Given the description of an element on the screen output the (x, y) to click on. 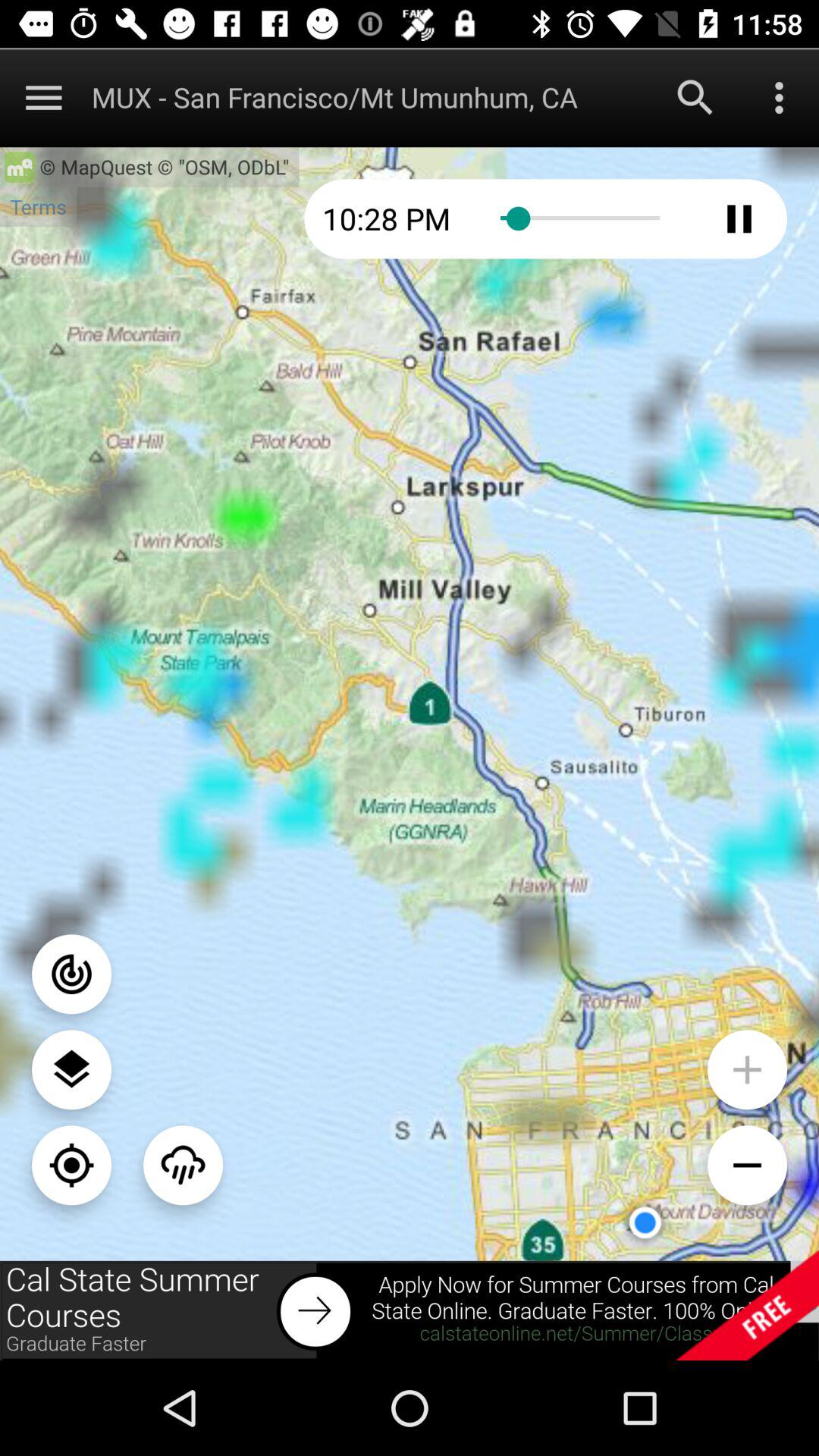
click to view advertisement (409, 1310)
